Given the description of an element on the screen output the (x, y) to click on. 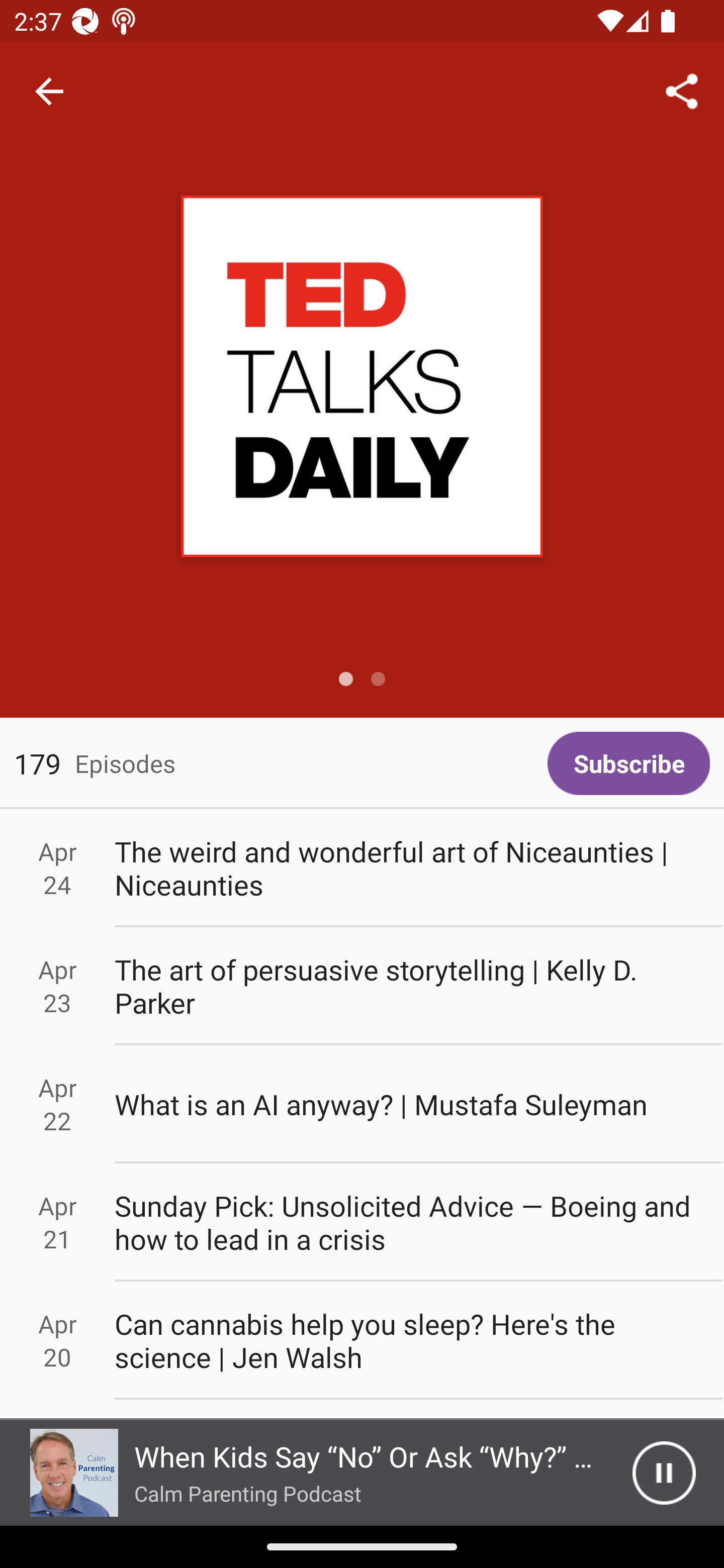
Navigate up (49, 91)
Share... (681, 90)
Subscribe (628, 763)
Apr 22 What is an AI anyway? | Mustafa Suleyman (362, 1104)
Pause (663, 1472)
